Given the description of an element on the screen output the (x, y) to click on. 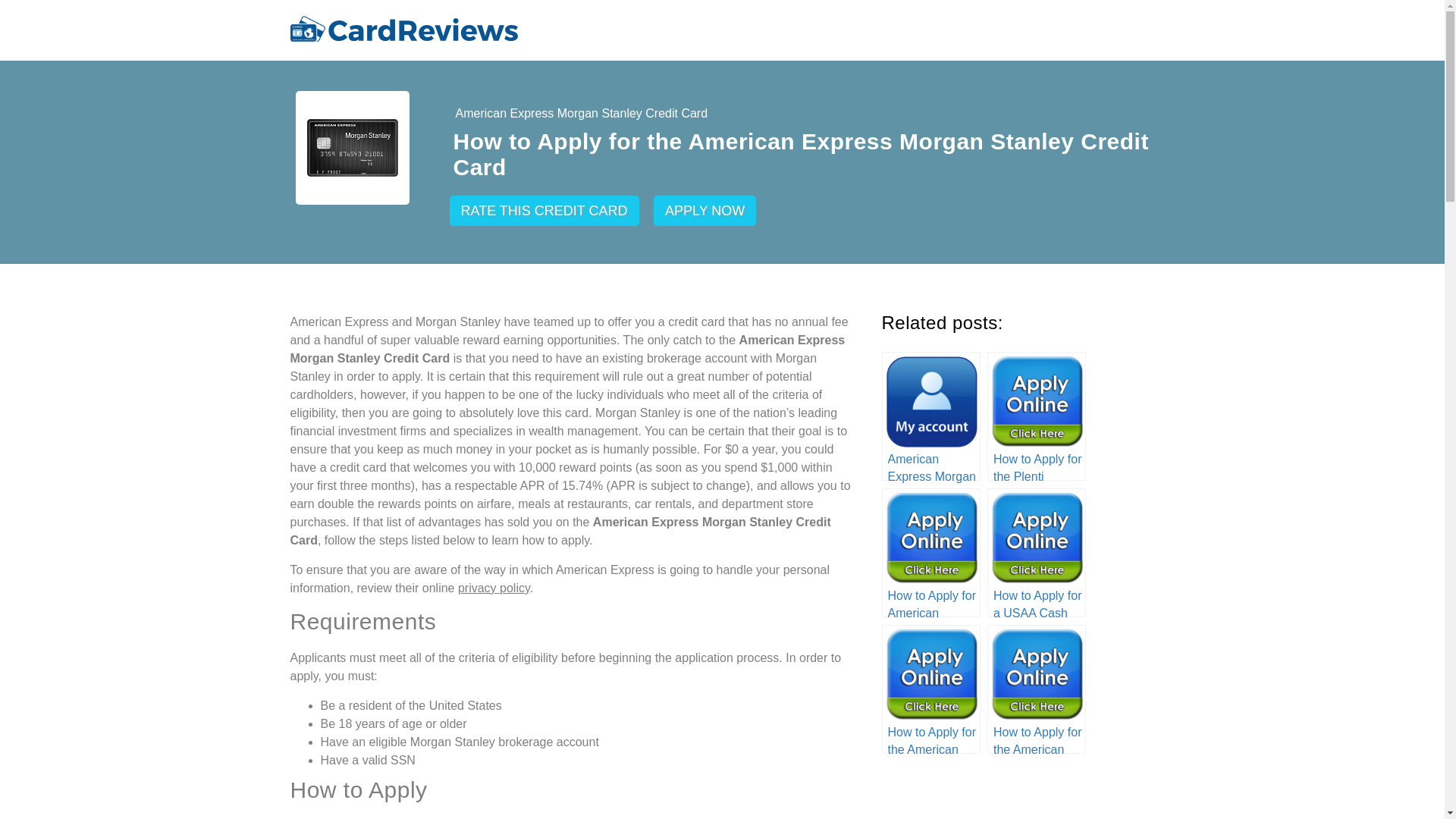
APPLY NOW (704, 210)
American Express Morgan Stanley Credit Card (580, 113)
RATE THIS CREDIT CARD (543, 210)
privacy policy (493, 587)
